Given the description of an element on the screen output the (x, y) to click on. 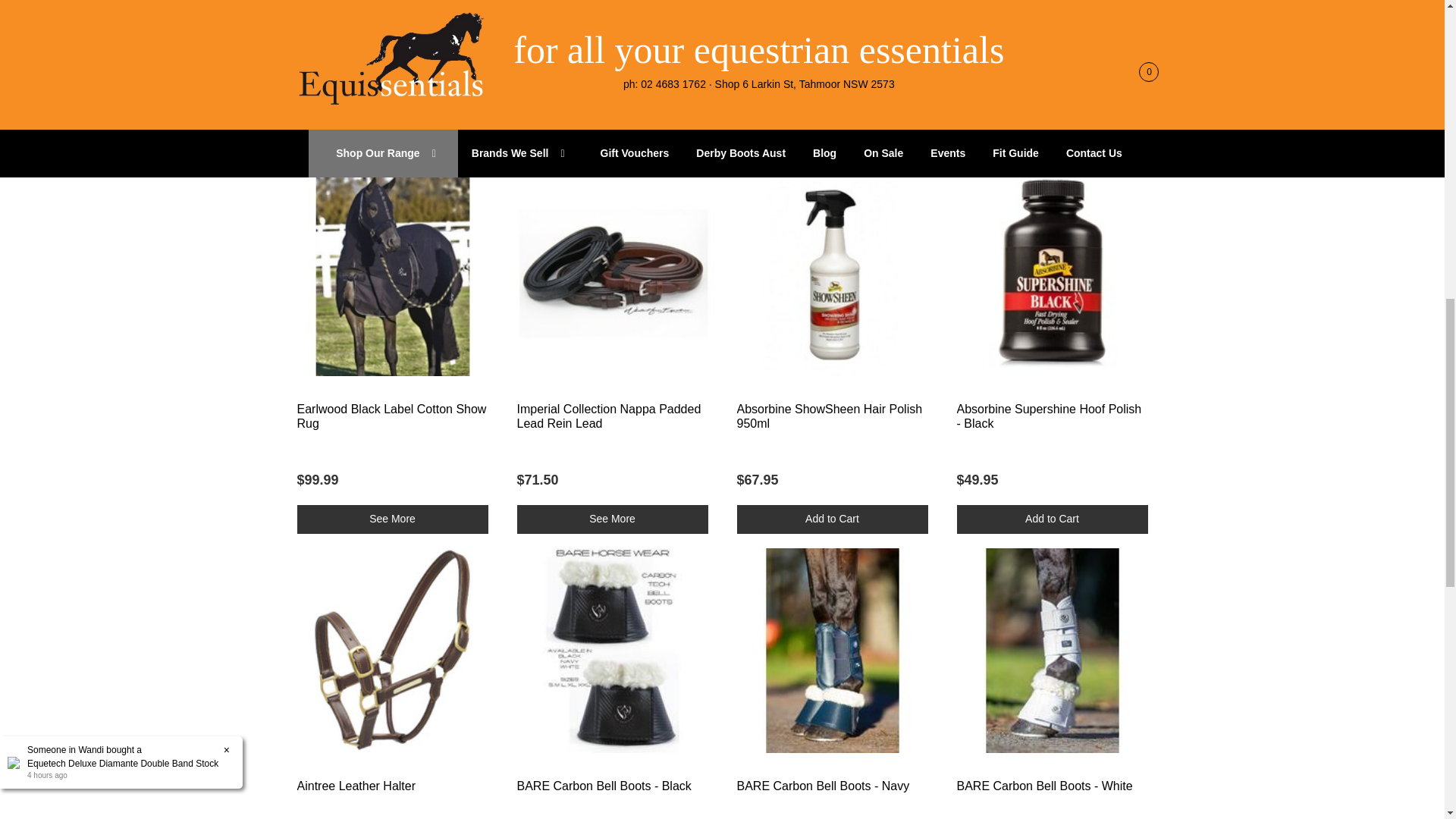
 Earlwood Black Label Cotton Show Rug (391, 415)
Buying Options (392, 519)
Buying Options (611, 519)
 Imperial Collection Nappa Padded Lead Rein Lead (608, 415)
